Given the description of an element on the screen output the (x, y) to click on. 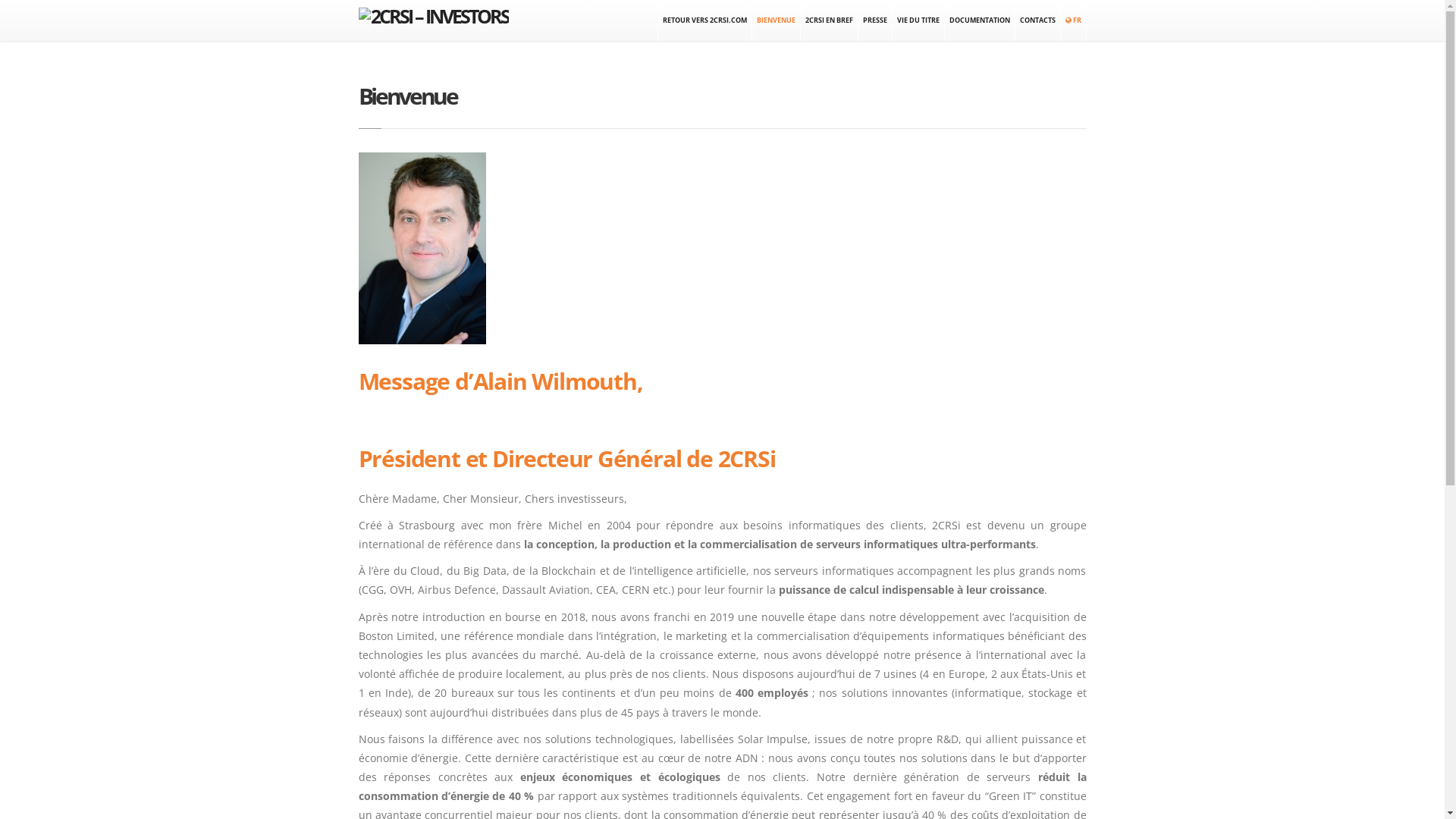
2CRSI EN BREF Element type: text (829, 20)
BIENVENUE Element type: text (776, 20)
RETOUR VERS 2CRSI.COM Element type: text (703, 20)
Bienvenue Element type: text (406, 95)
VIE DU TITRE Element type: text (917, 20)
PRESSE Element type: text (875, 20)
FR Element type: text (1072, 20)
CONTACTS Element type: text (1037, 20)
DOCUMENTATION Element type: text (979, 20)
